Given the description of an element on the screen output the (x, y) to click on. 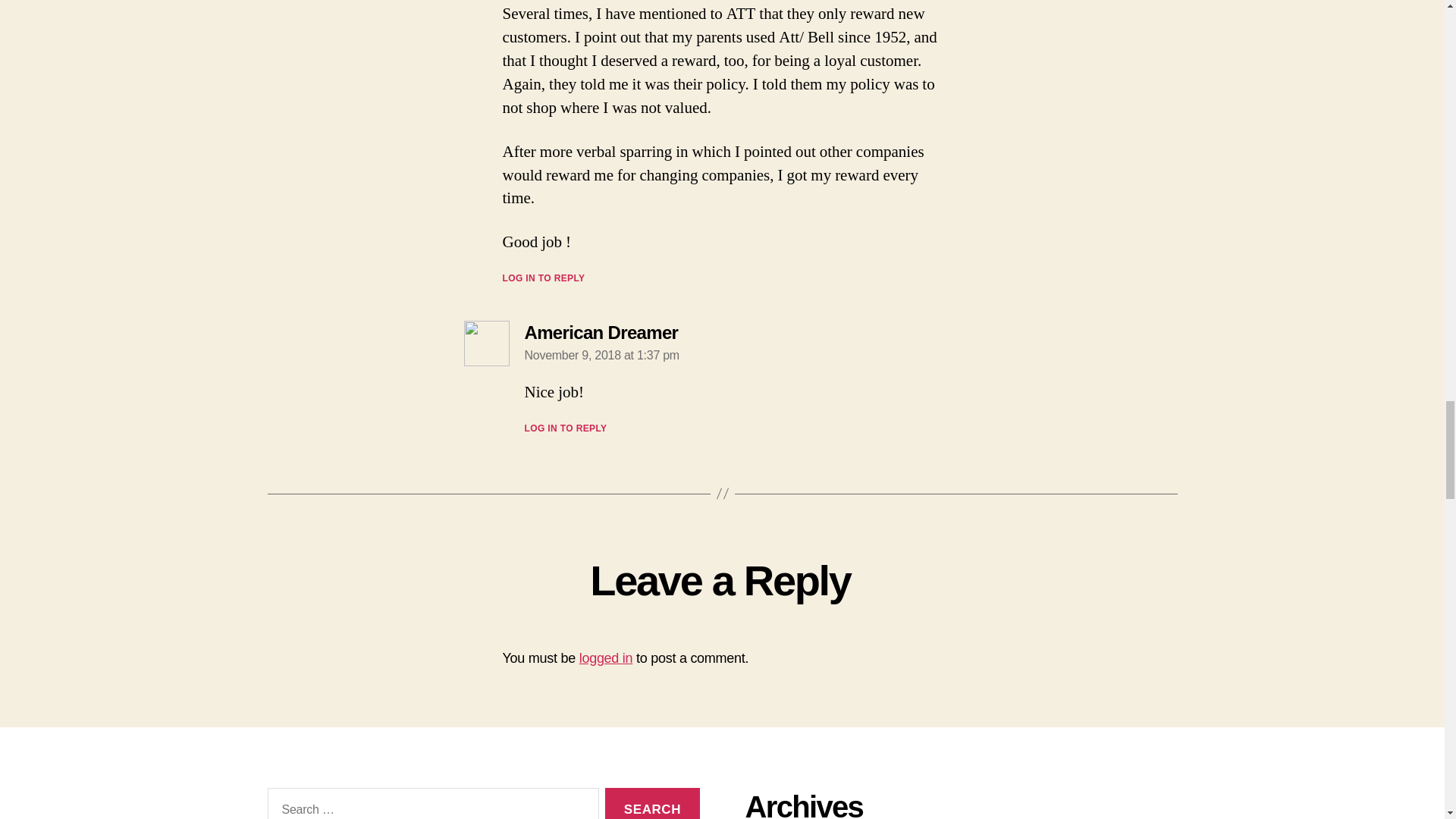
Search (651, 803)
logged in (606, 657)
LOG IN TO REPLY (543, 277)
November 9, 2018 at 1:37 pm (601, 354)
November 9, 2018 at 1:37 pm (601, 354)
LOG IN TO REPLY (565, 428)
Search (651, 803)
Search (651, 803)
